Given the description of an element on the screen output the (x, y) to click on. 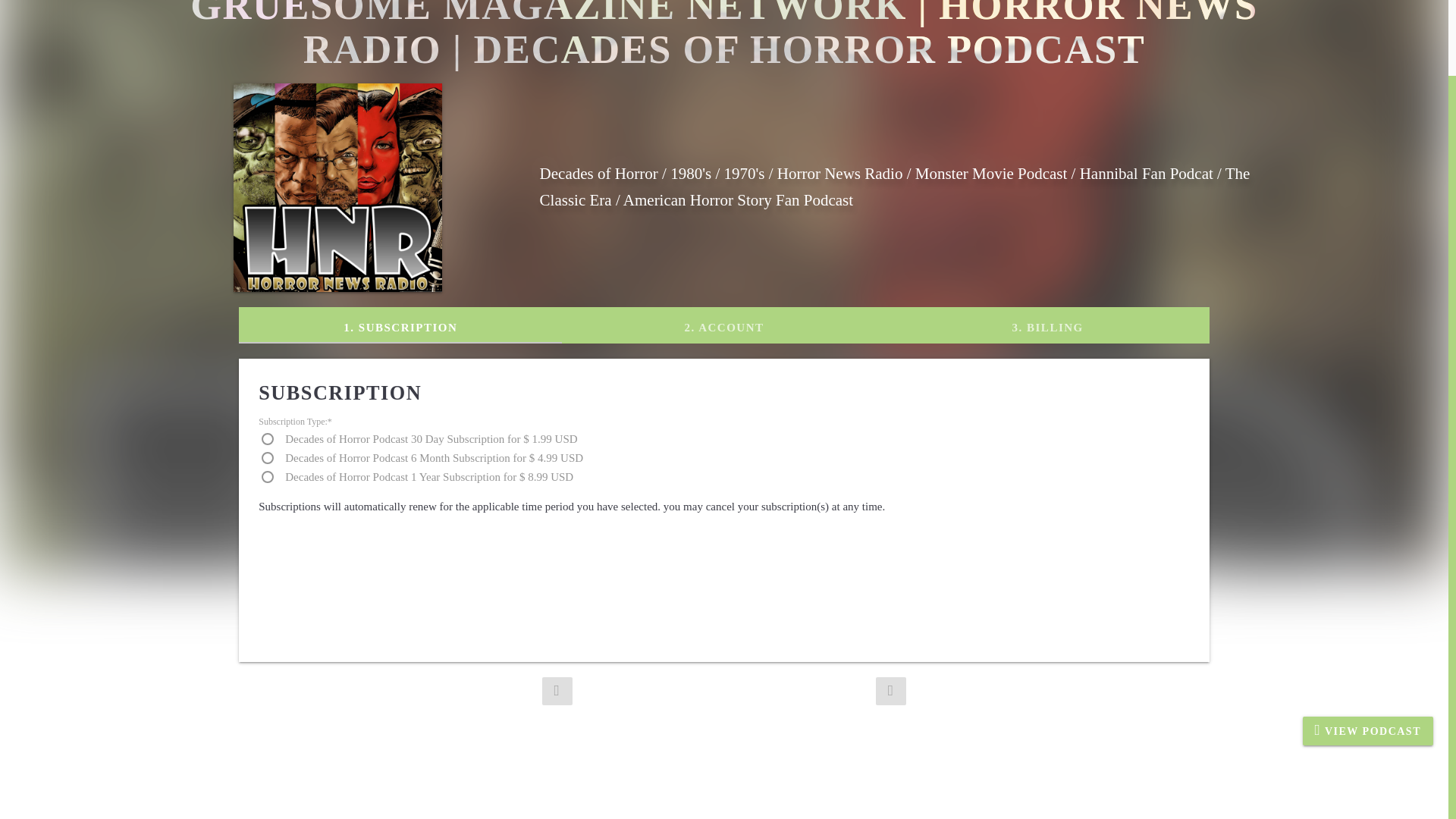
1. SUBSCRIPTION (400, 324)
VIEW PODCAST (1367, 647)
2. ACCOUNT (724, 324)
3. BILLING (1047, 324)
